Given the description of an element on the screen output the (x, y) to click on. 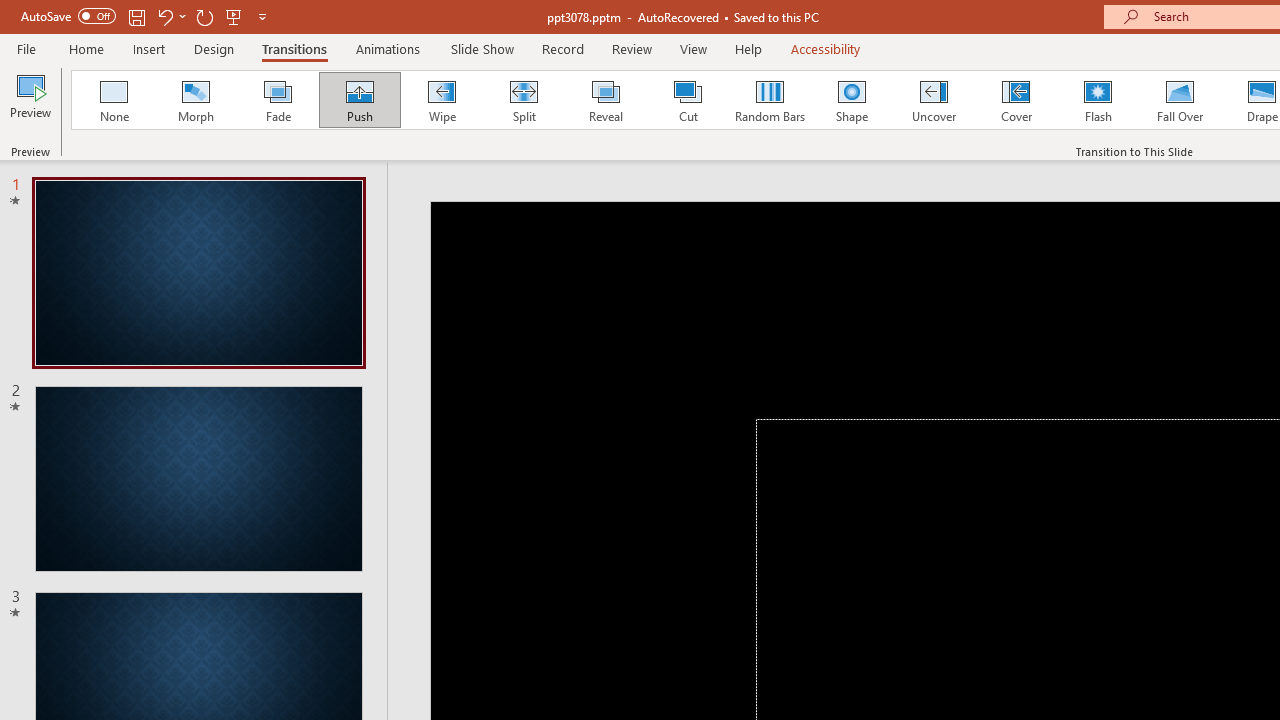
Morph (195, 100)
Reveal (605, 100)
Fall Over (1180, 100)
